Given the description of an element on the screen output the (x, y) to click on. 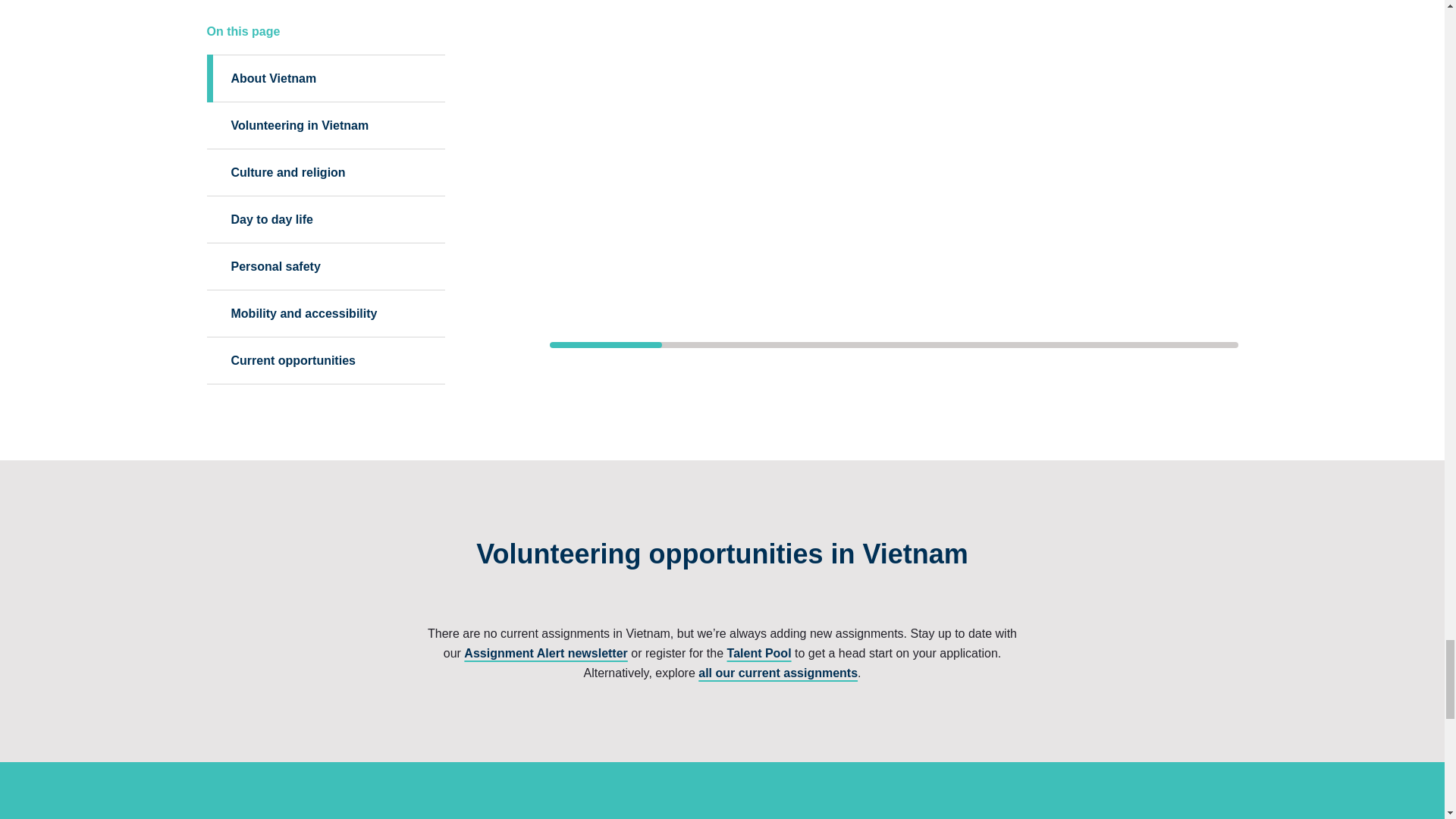
all our current assignments (777, 672)
Talent Pool (759, 653)
Assignment Alert newsletter (545, 653)
